Given the description of an element on the screen output the (x, y) to click on. 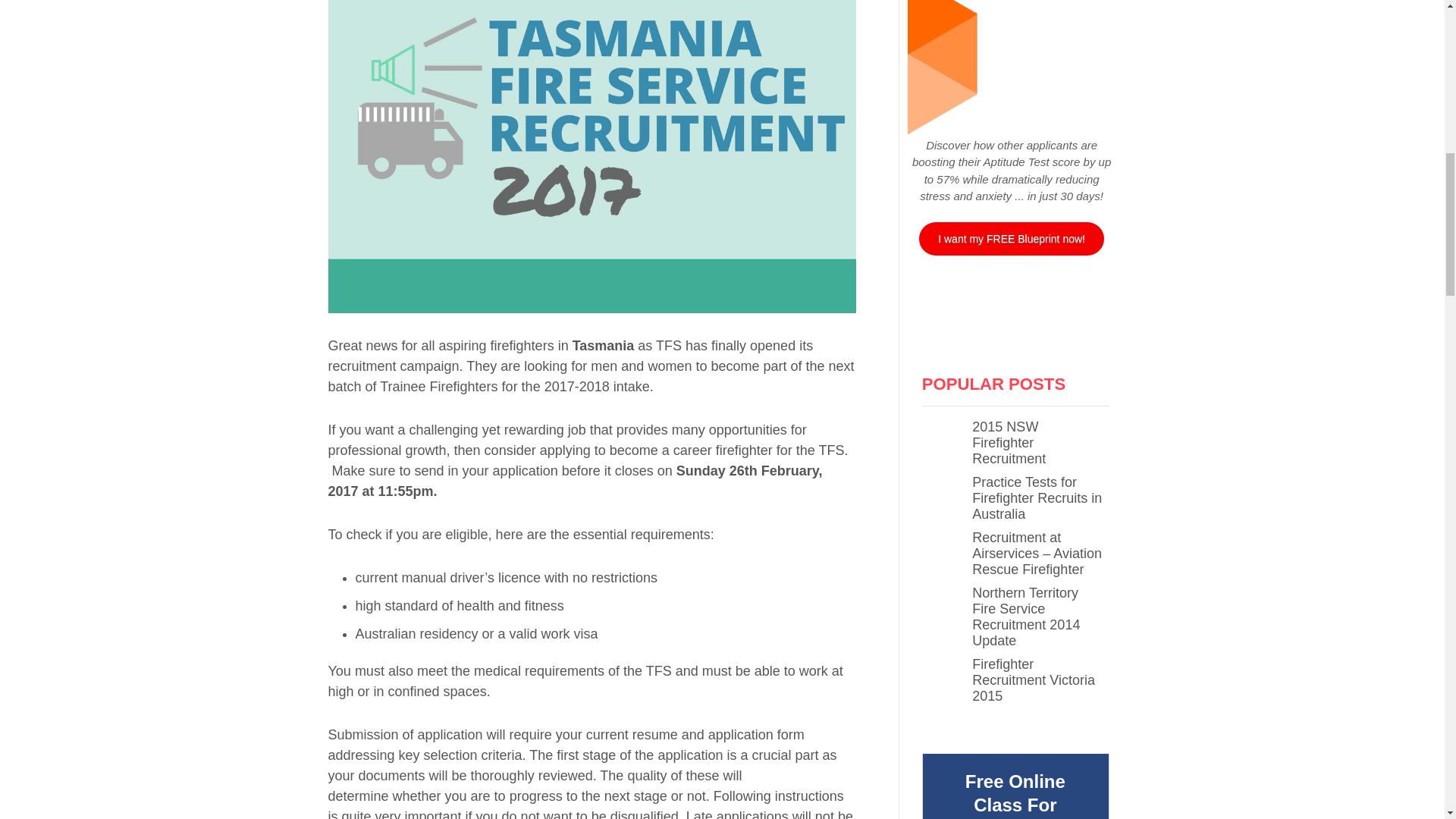
2015 NSW Firefighter Recruitment (1008, 442)
Firefighter Recruitment Victoria 2015 (1033, 679)
Northern Territory Fire Service Recruitment 2014 Update (1026, 616)
Practice Tests for Firefighter Recruits in Australia (1037, 498)
Aptitude-Improvement-Blueprint-230 (1011, 67)
I want my FREE Blueprint now! (1010, 238)
